Given the description of an element on the screen output the (x, y) to click on. 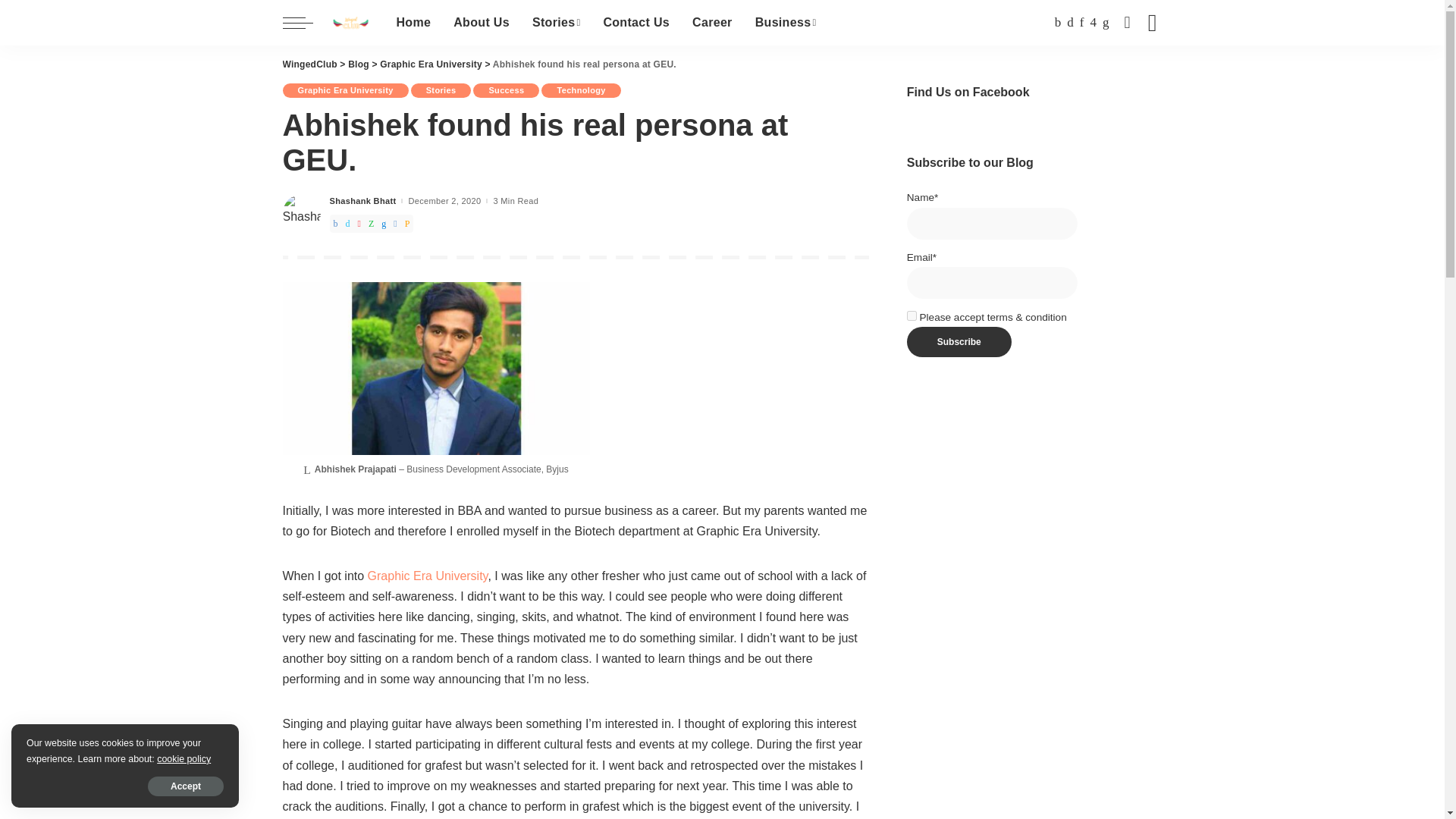
Contact Us (636, 22)
Subscribe (959, 341)
Home (413, 22)
Stories (556, 22)
true (912, 316)
About Us (481, 22)
WingedClub (349, 22)
